Given the description of an element on the screen output the (x, y) to click on. 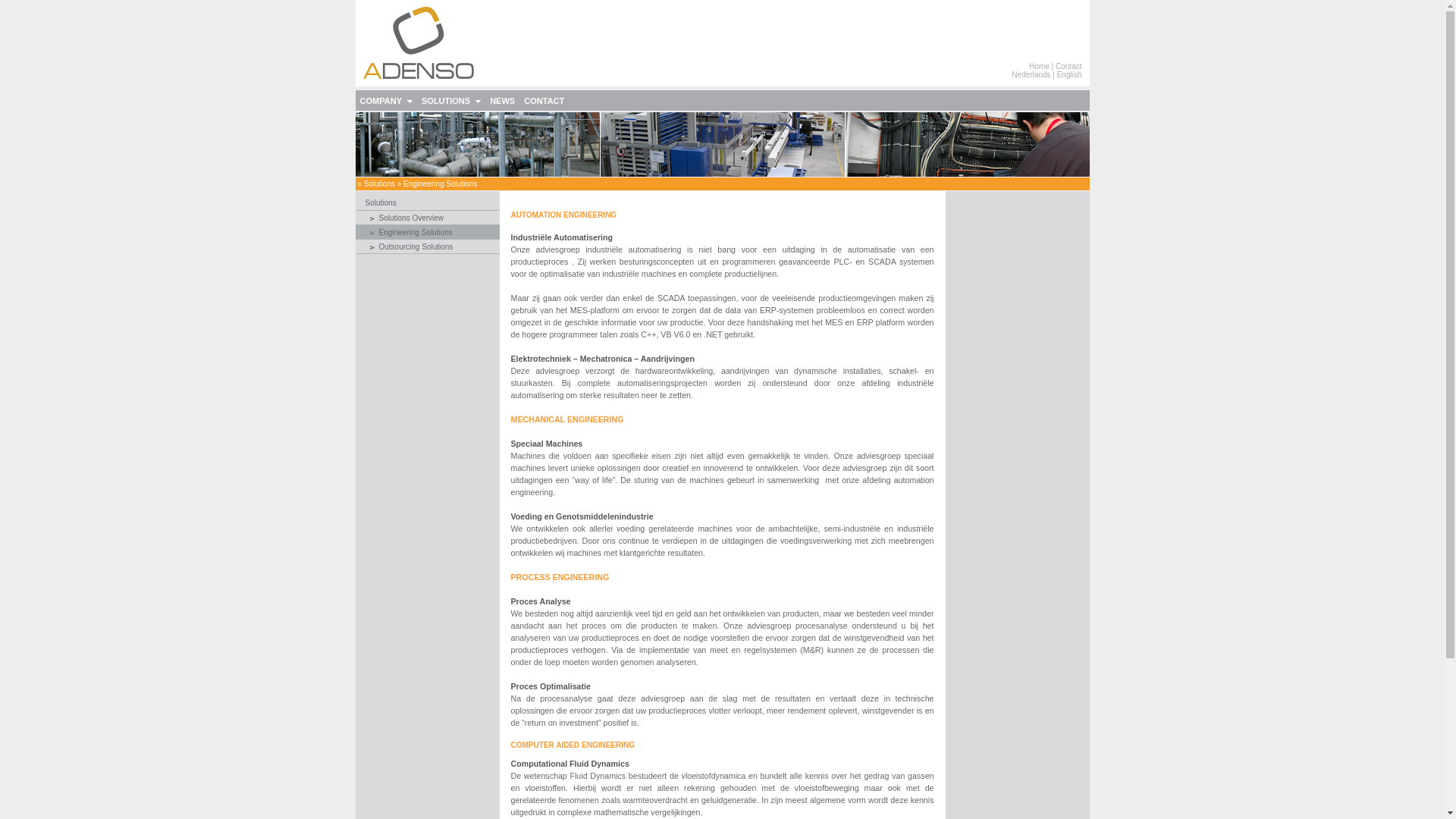
 CONTACT  Element type: text (543, 100)
Nederlands Element type: text (1030, 74)
Home Element type: text (1039, 66)
English Element type: text (1069, 74)
Solutions Overview Element type: text (411, 217)
 NEWS  Element type: text (502, 100)
Solutions Element type: text (380, 202)
Engineering Solutions Element type: text (415, 231)
Outsourcing Solutions Element type: text (416, 246)
 SOLUTIONS  Element type: text (451, 100)
Contact Element type: text (1068, 66)
Engineering Solutions Element type: text (439, 183)
Solutions Element type: text (379, 183)
 COMPANY  Element type: text (385, 100)
